Given the description of an element on the screen output the (x, y) to click on. 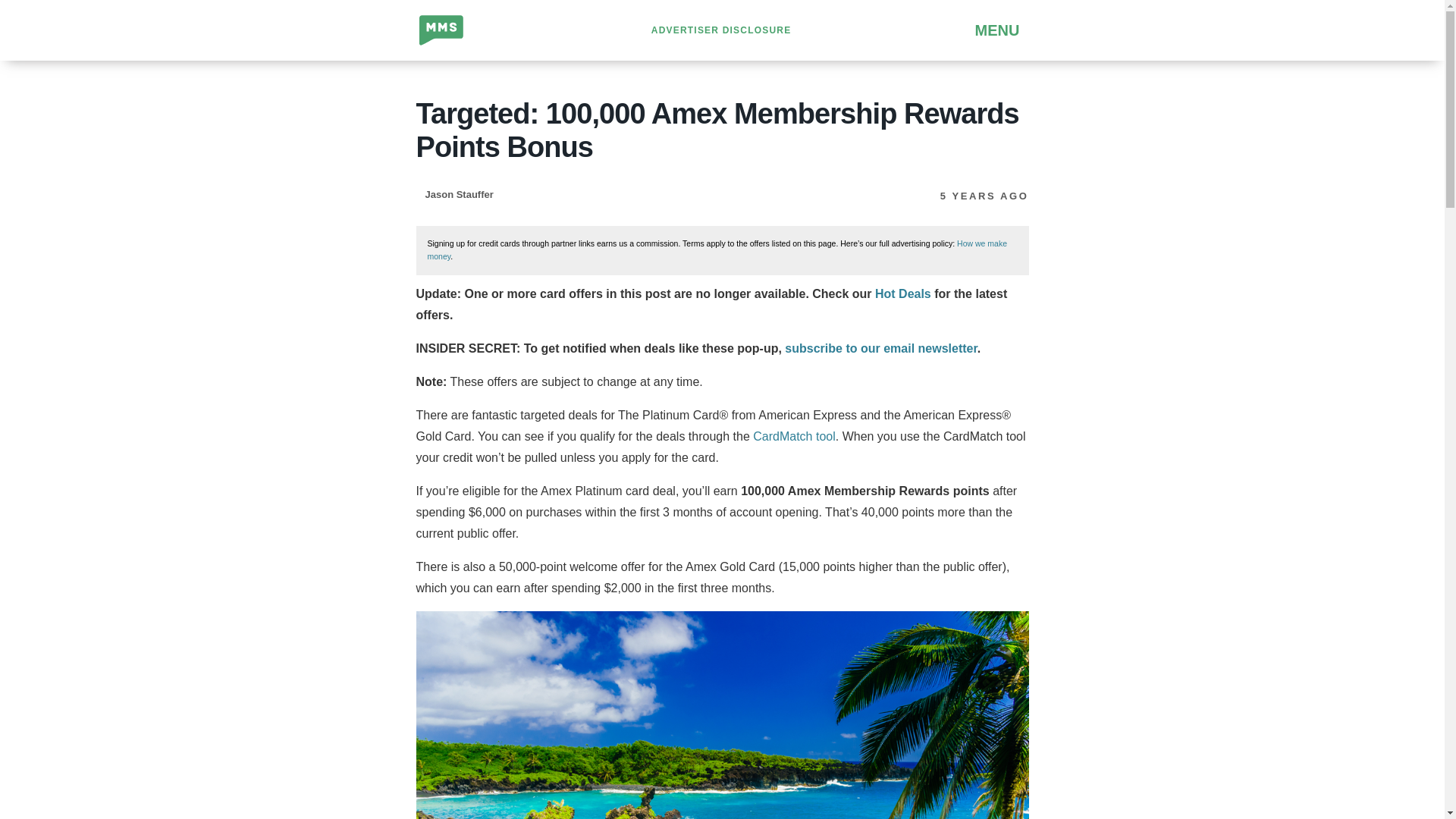
Million Mile Secrets (468, 30)
MENU (974, 30)
CardMatch tool (793, 436)
How we make money (717, 249)
Hot Deals (903, 293)
subscribe to our email newsletter (880, 348)
ADVERTISER DISCLOSURE (721, 30)
